Given the description of an element on the screen output the (x, y) to click on. 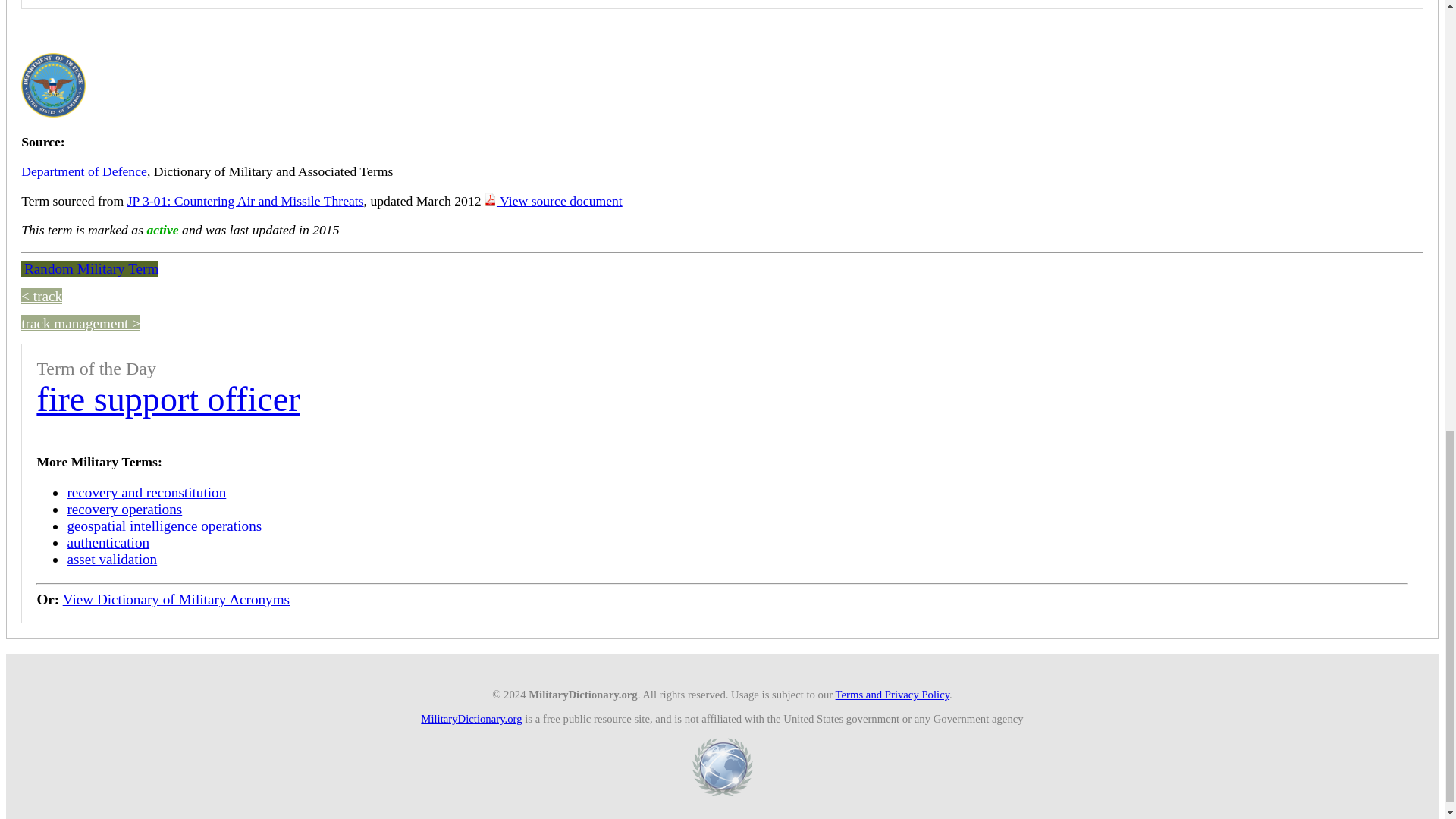
Department of Defence (84, 171)
MilitaryDictionary.org is a Marathon Studios production (721, 767)
Random Military Term (89, 268)
View source document (553, 200)
JP 3-01: Countering Air and Missile Threats (246, 200)
